Given the description of an element on the screen output the (x, y) to click on. 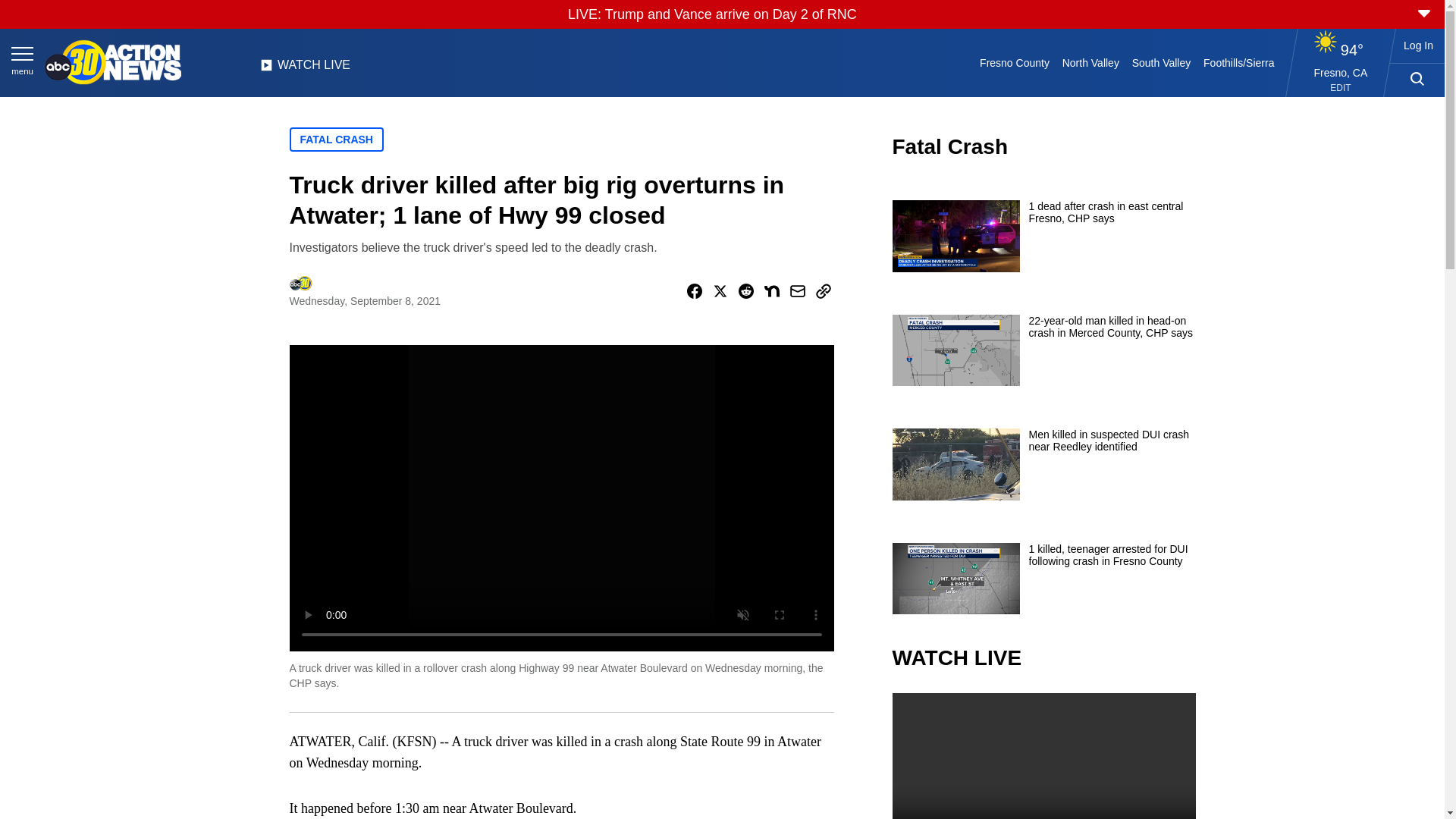
Fresno, CA (1340, 72)
video.title (1043, 755)
WATCH LIVE (305, 69)
North Valley (1090, 62)
Fresno County (1015, 62)
South Valley (1160, 62)
EDIT (1340, 87)
